Given the description of an element on the screen output the (x, y) to click on. 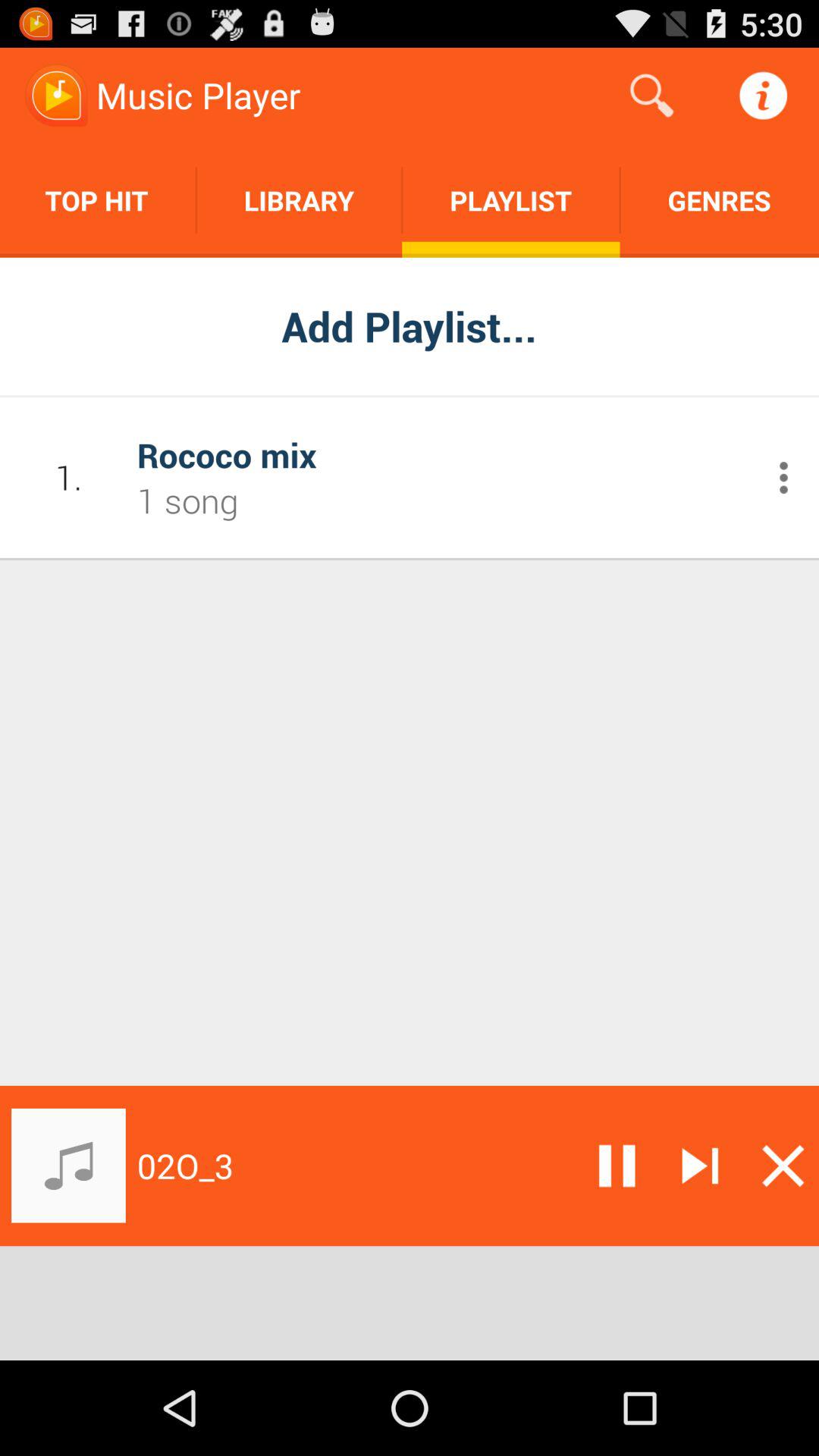
skip forward (699, 1165)
